Given the description of an element on the screen output the (x, y) to click on. 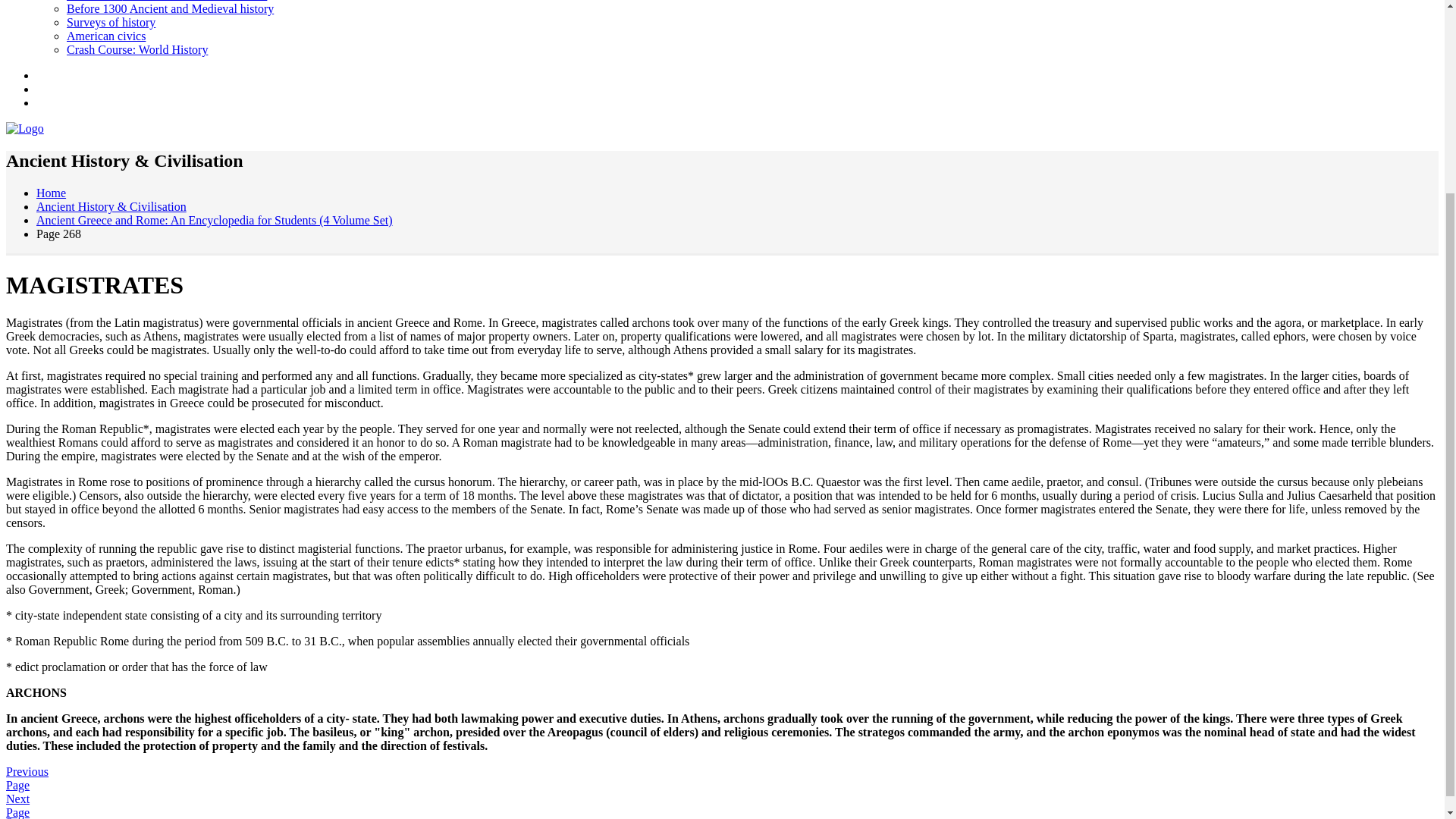
American civics (105, 35)
Crash Course: World History (137, 49)
Before 1300 Ancient and Medieval history (169, 8)
Surveys of history (110, 21)
Home (50, 192)
